Given the description of an element on the screen output the (x, y) to click on. 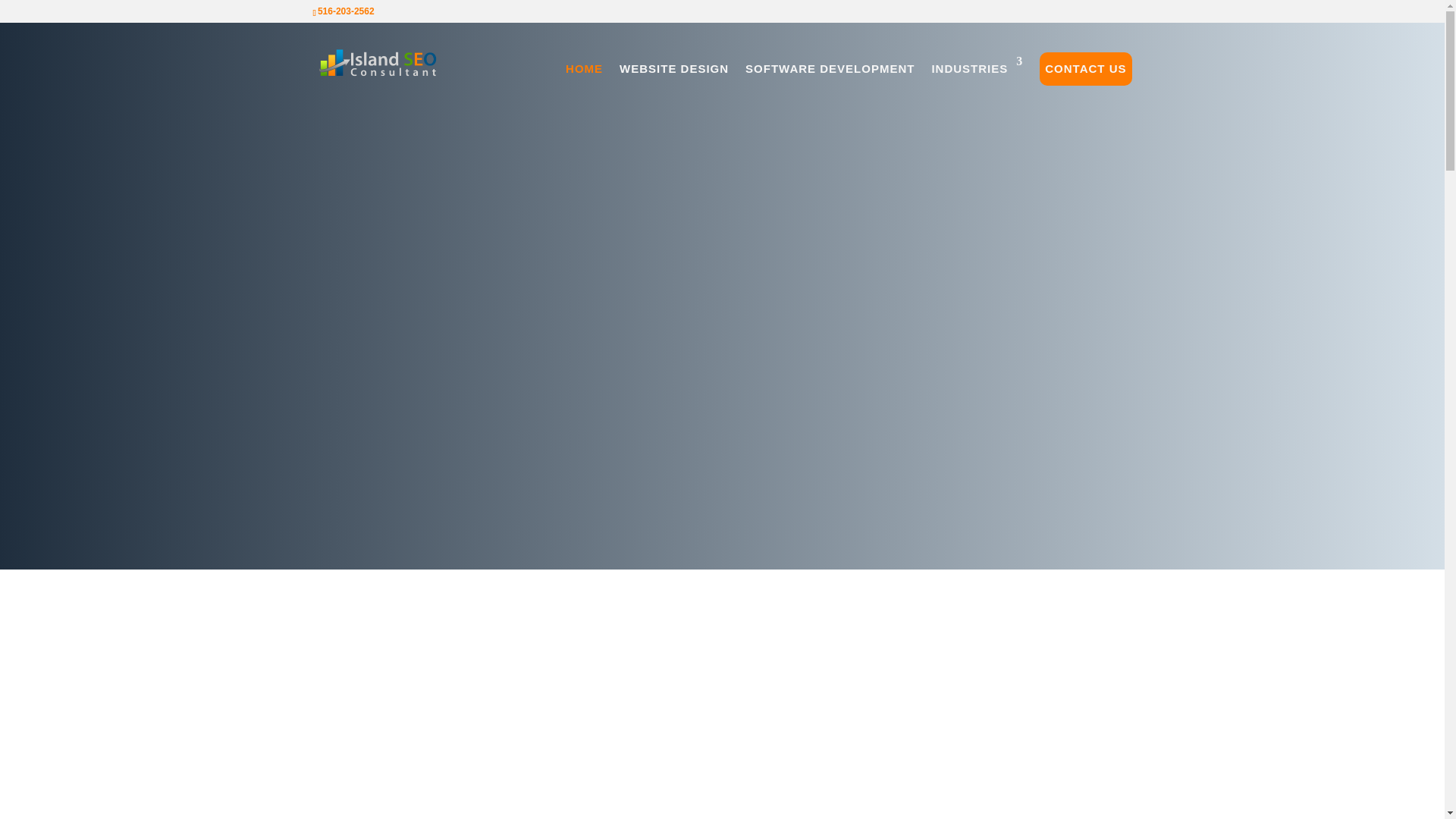
CONTACT US (1085, 68)
SOFTWARE DEVELOPMENT (829, 68)
WEBSITE DESIGN (674, 68)
HOME (584, 68)
INDUSTRIES (977, 68)
